Given the description of an element on the screen output the (x, y) to click on. 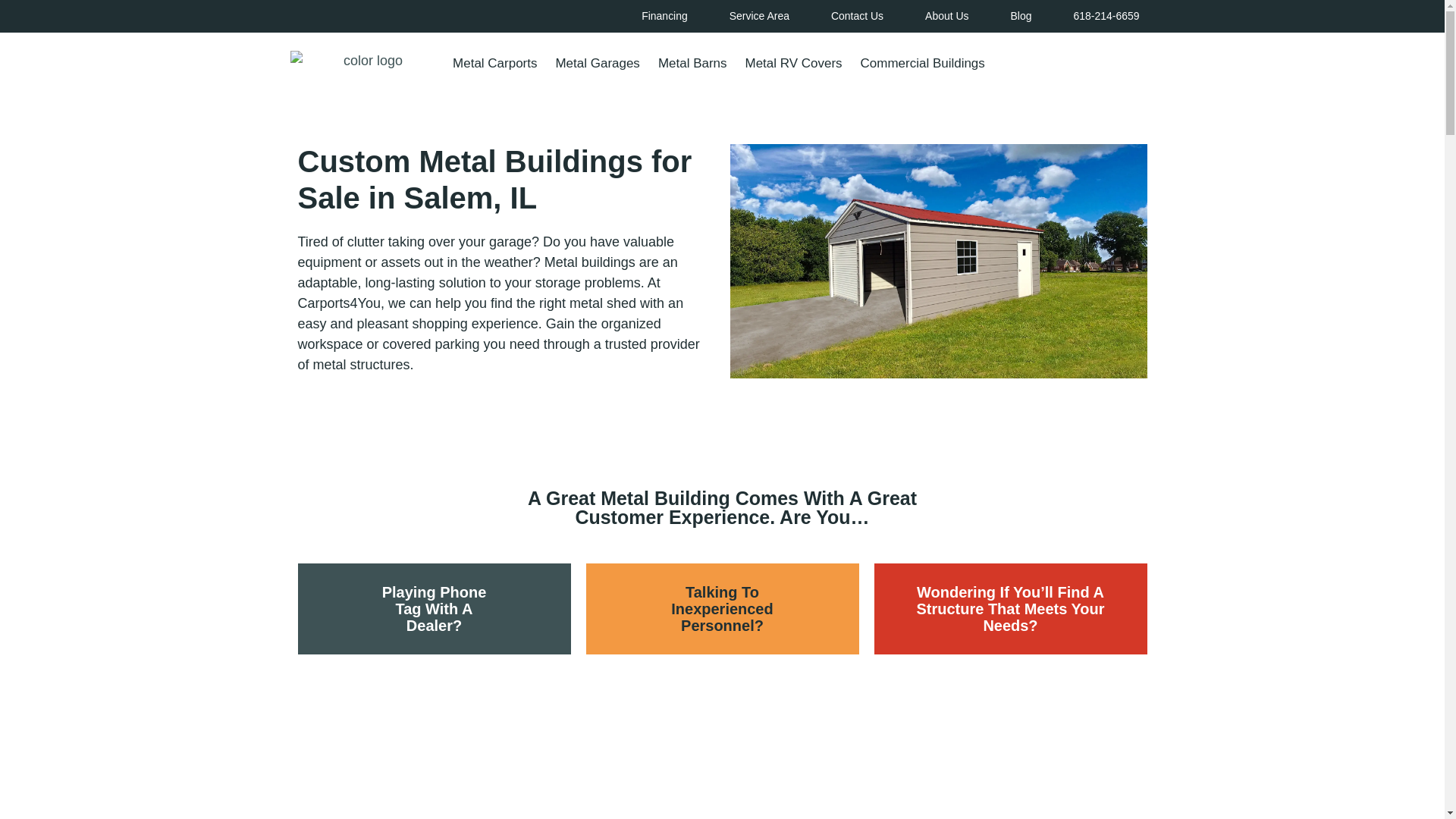
Financing (664, 16)
Metal RV Covers (792, 63)
Service Area (759, 16)
Contact Us For Answers (721, 692)
Commercial Buildings (922, 63)
Price Online (1081, 63)
carports-4-you-logo-full-color-rgb (366, 63)
About Us (947, 16)
618-214-6659 (1106, 16)
Metal Barns (692, 63)
Blog (1020, 16)
Metal Carports (495, 63)
Contact Us (856, 16)
Metal Garages (596, 63)
